Given the description of an element on the screen output the (x, y) to click on. 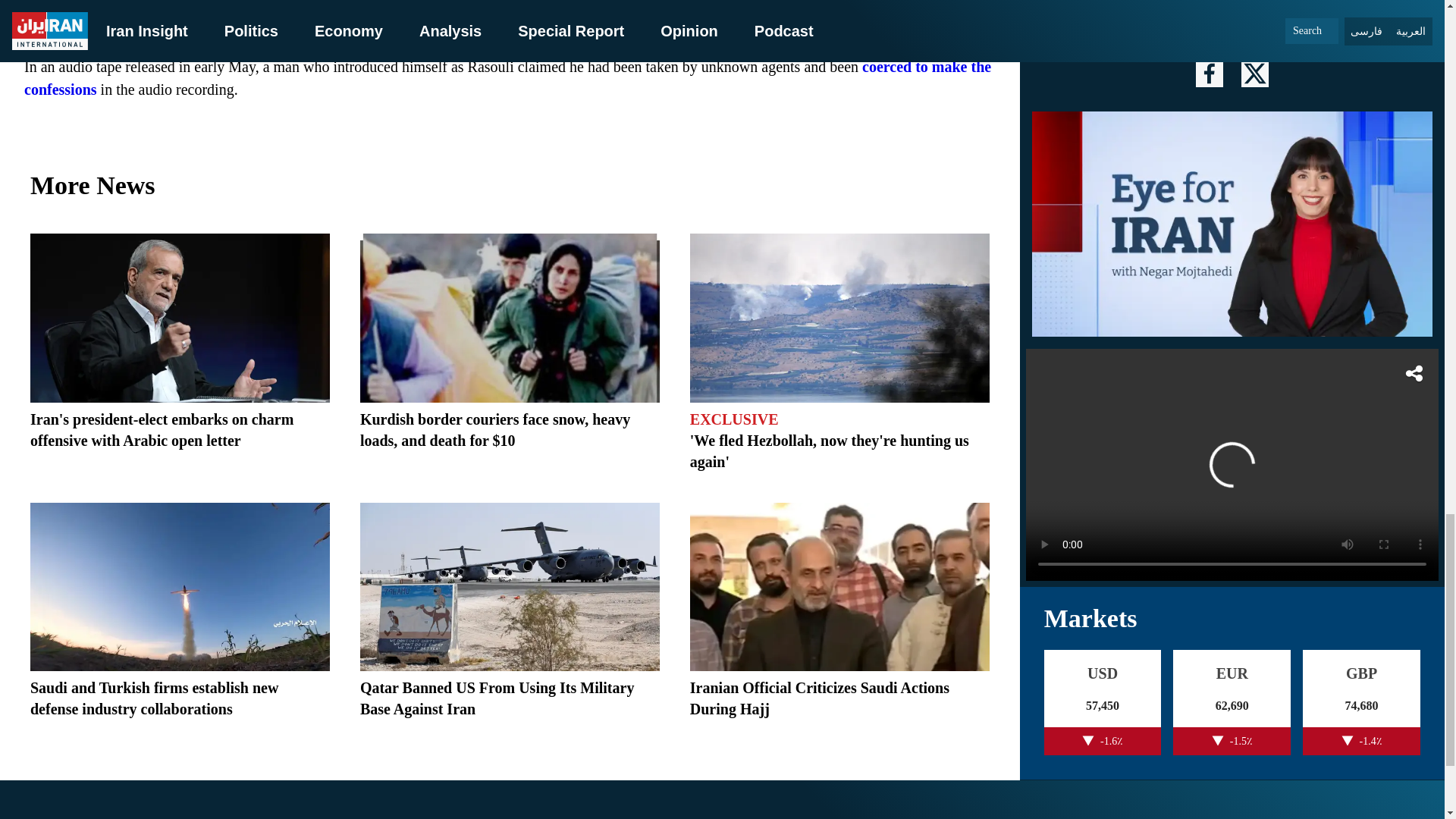
Qatar Banned US From Using Its Military Base Against Iran (496, 698)
hours after Iran International's report (292, 8)
coerced to make the confessions (507, 77)
Iranian Official Criticizes Saudi Actions During Hajj (819, 698)
'We fled Hezbollah, now they're hunting us again' (829, 451)
